Given the description of an element on the screen output the (x, y) to click on. 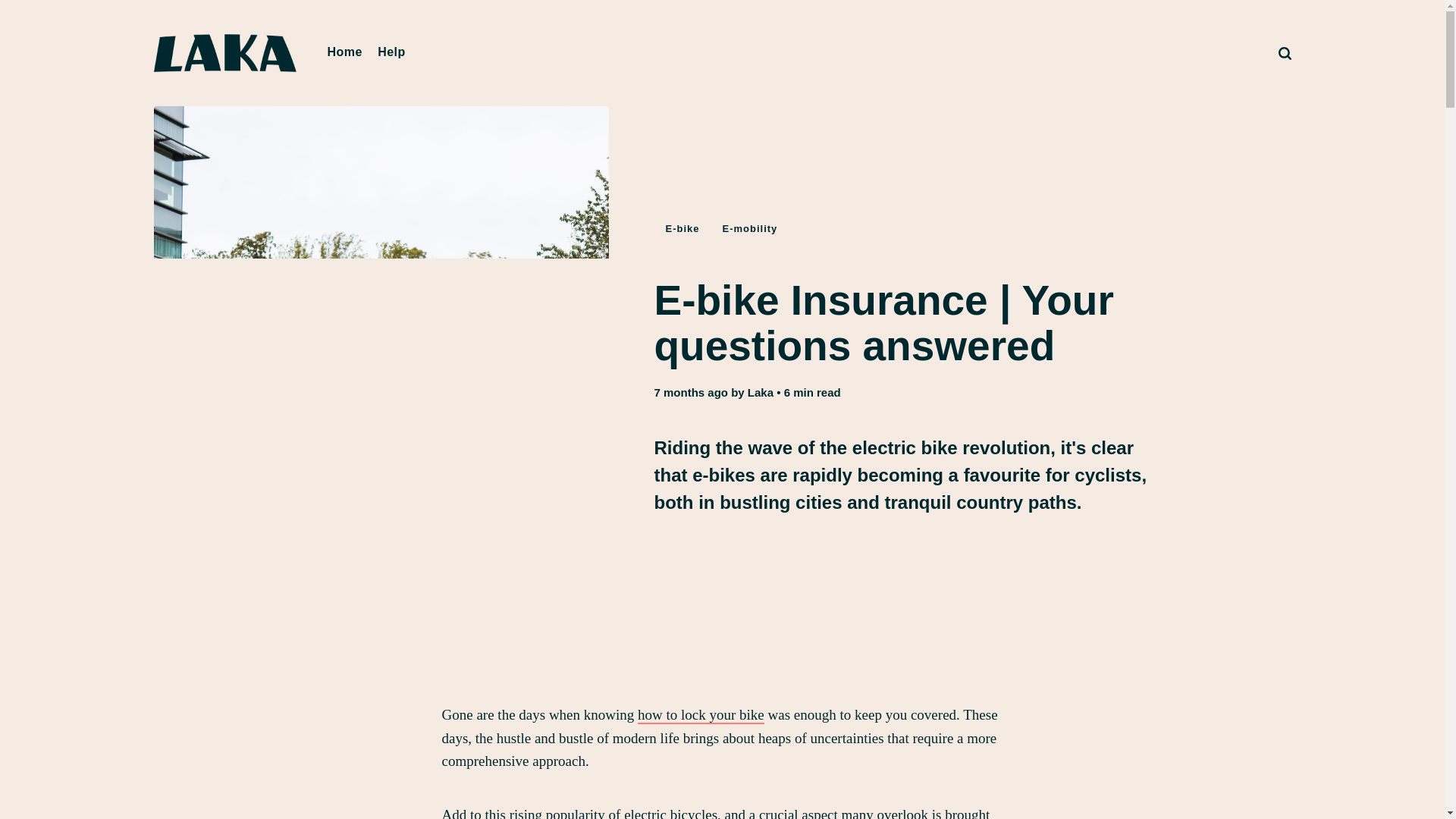
E-mobility (750, 228)
Laka (760, 391)
how to lock your bike (700, 714)
E-bike (681, 228)
Home (343, 52)
Help (391, 52)
